Given the description of an element on the screen output the (x, y) to click on. 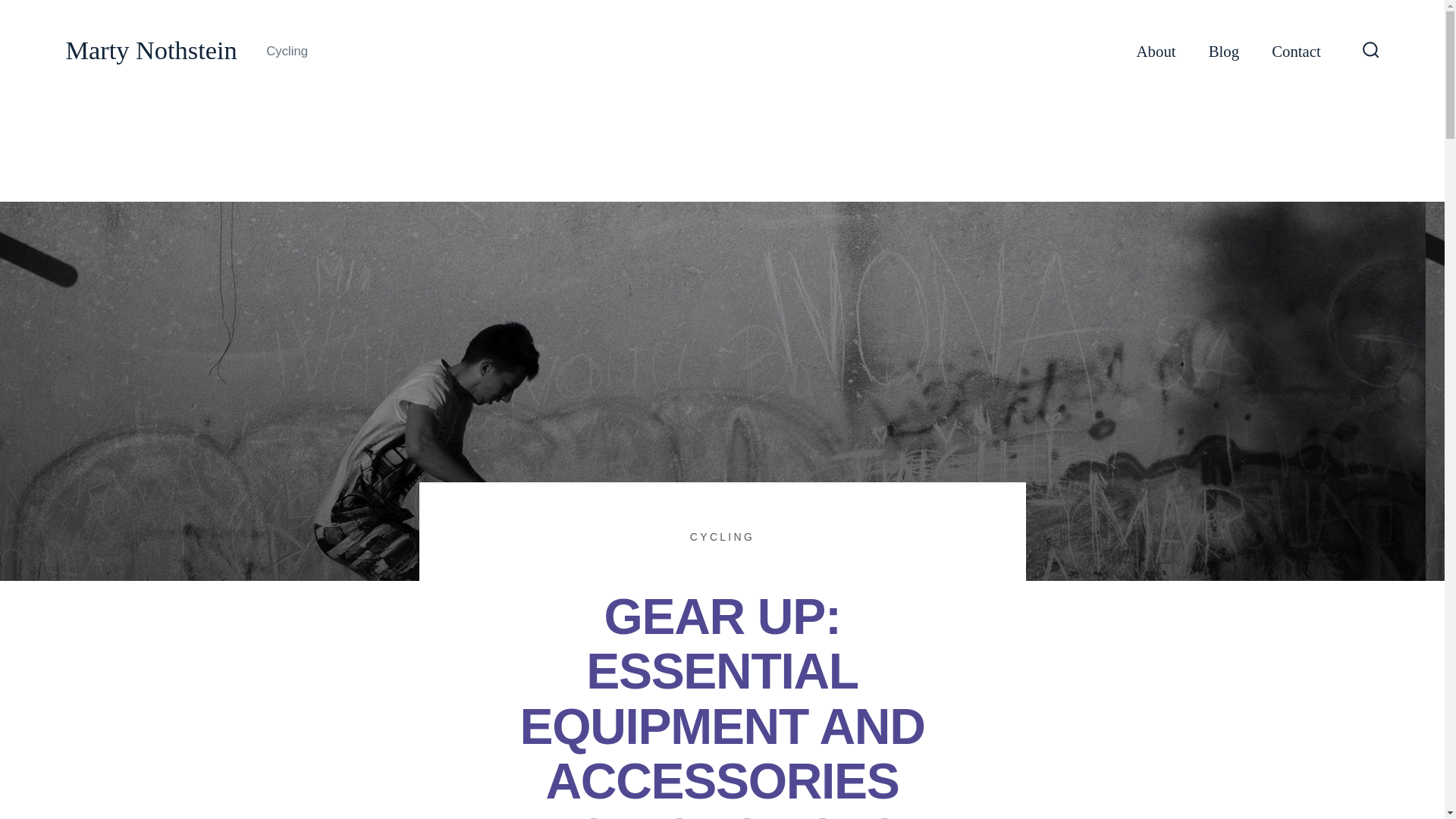
Blog (1223, 51)
Contact (1295, 51)
About (1156, 51)
Marty Nothstein (150, 51)
CYCLING (722, 536)
